Given the description of an element on the screen output the (x, y) to click on. 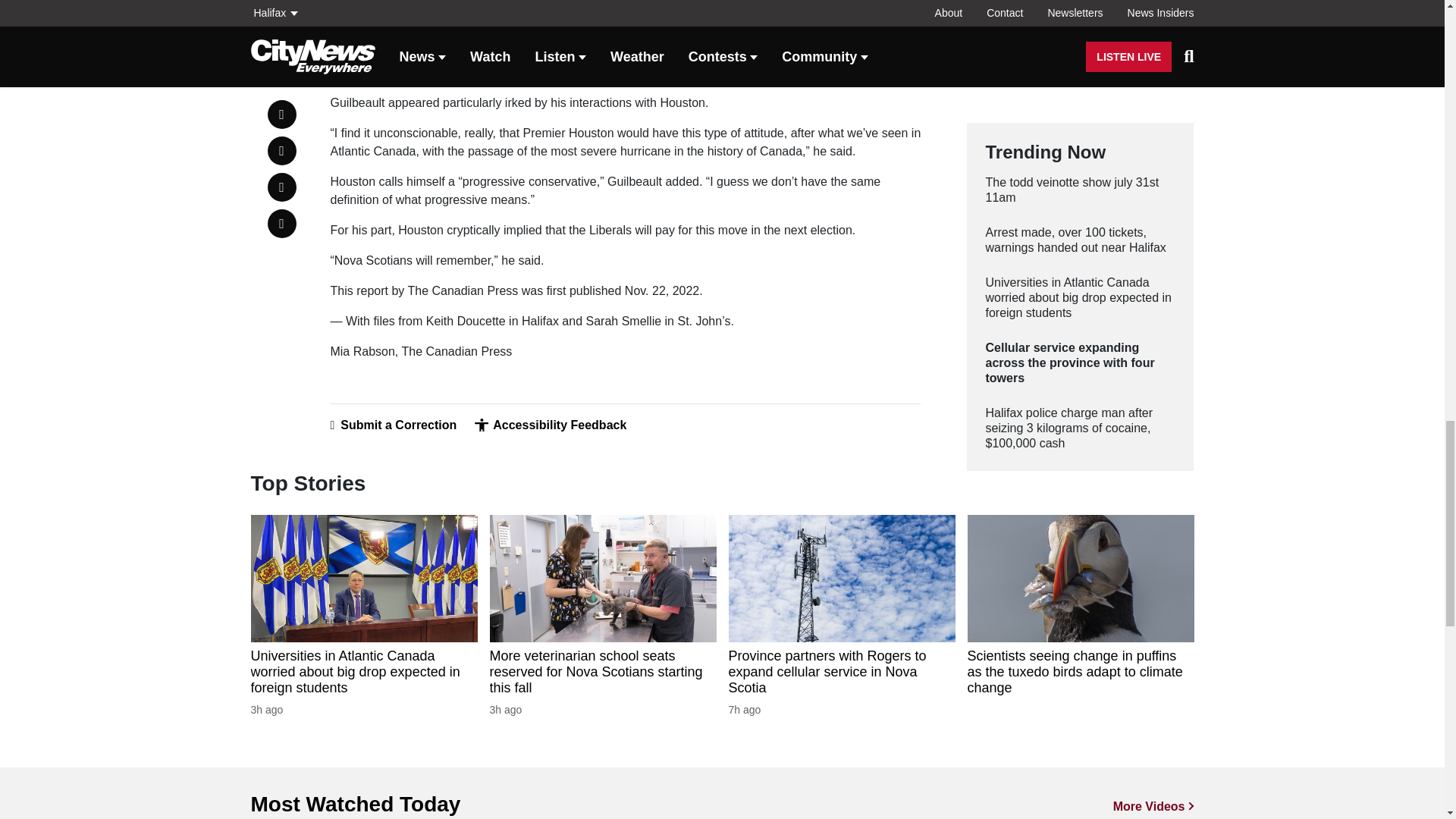
Submit a Correction (393, 424)
Accessibility Feedback (550, 424)
